Given the description of an element on the screen output the (x, y) to click on. 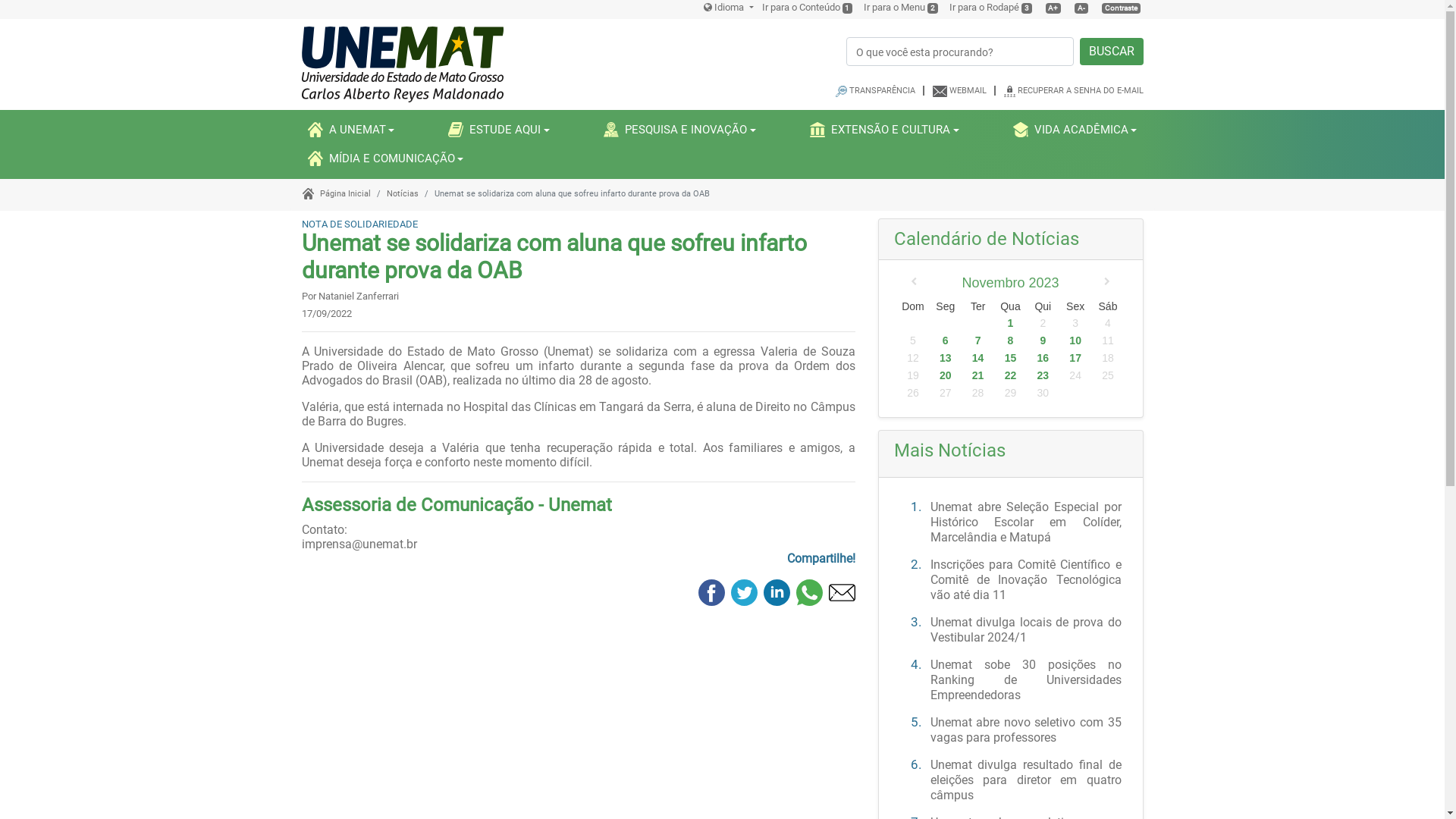
20 Element type: text (944, 375)
23 Element type: text (1042, 375)
13 Element type: text (944, 358)
21 Element type: text (977, 375)
A+ Element type: text (1052, 7)
22 Element type: text (1010, 375)
8 Element type: text (1010, 340)
A- Element type: text (1081, 7)
15 Element type: text (1010, 358)
Unemat divulga locais de prova do Vestibular 2024/1 Element type: text (1024, 629)
9 Element type: text (1042, 340)
RECUPERAR A SENHA DO E-MAIL Element type: text (1080, 90)
Idioma Element type: text (728, 7)
Unemat abre novo seletivo com 35 vagas para professores Element type: text (1024, 729)
16 Element type: text (1042, 358)
ESTUDE AQUI Element type: text (498, 130)
1 Element type: text (1010, 323)
Ir para o Menu Element type: text (894, 6)
BUSCAR Element type: text (1111, 51)
7 Element type: text (977, 340)
6 Element type: text (944, 340)
17 Element type: text (1075, 358)
A UNEMAT Element type: text (351, 130)
WEBMAIL Element type: text (967, 90)
10 Element type: text (1075, 340)
Contraste Element type: text (1120, 7)
14 Element type: text (977, 358)
